Given the description of an element on the screen output the (x, y) to click on. 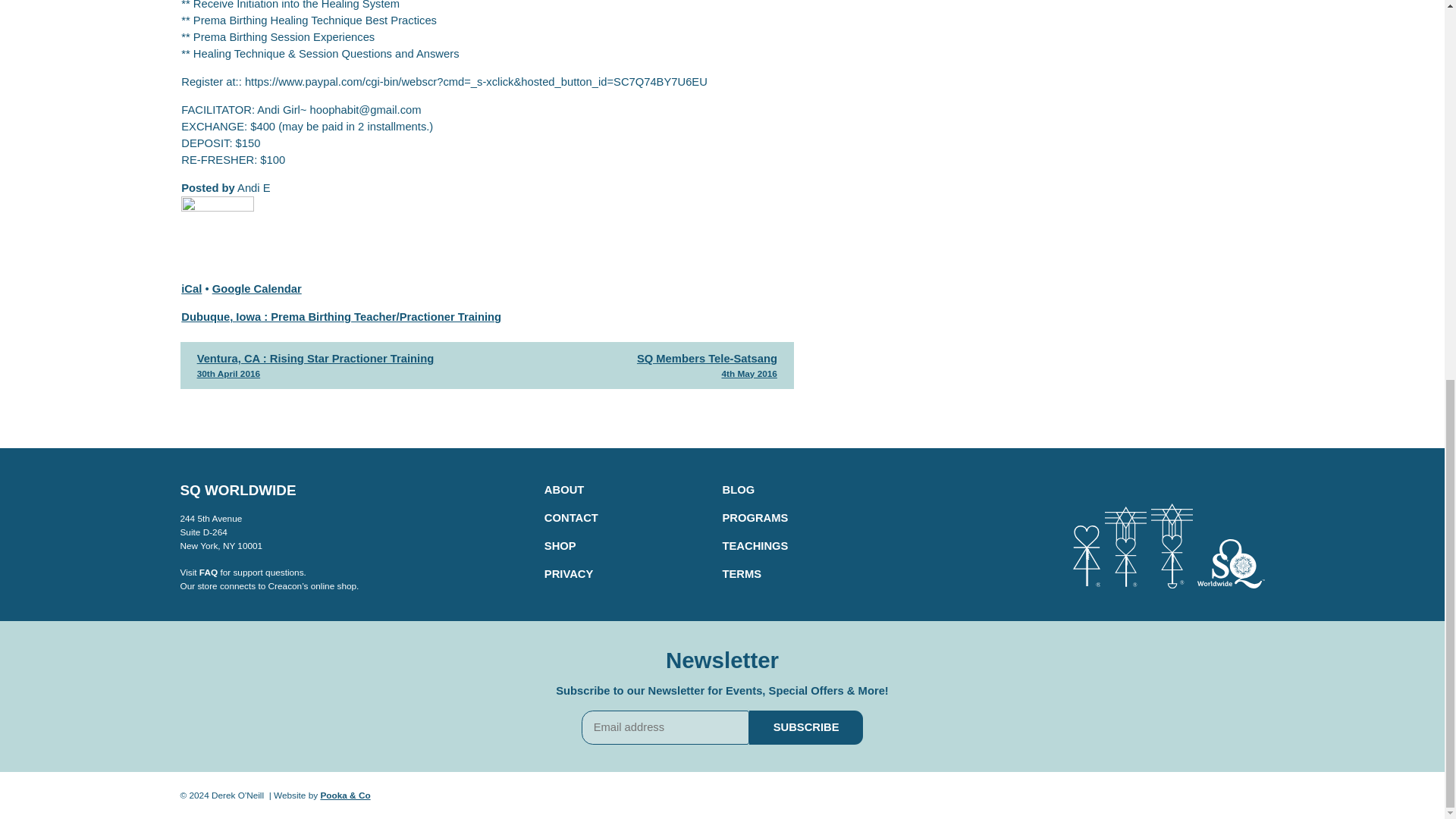
SUBSCRIBE (806, 726)
BLOG (631, 366)
FAQ (738, 490)
Google Calendar (207, 572)
ABOUT (256, 288)
iCal (563, 490)
